Given the description of an element on the screen output the (x, y) to click on. 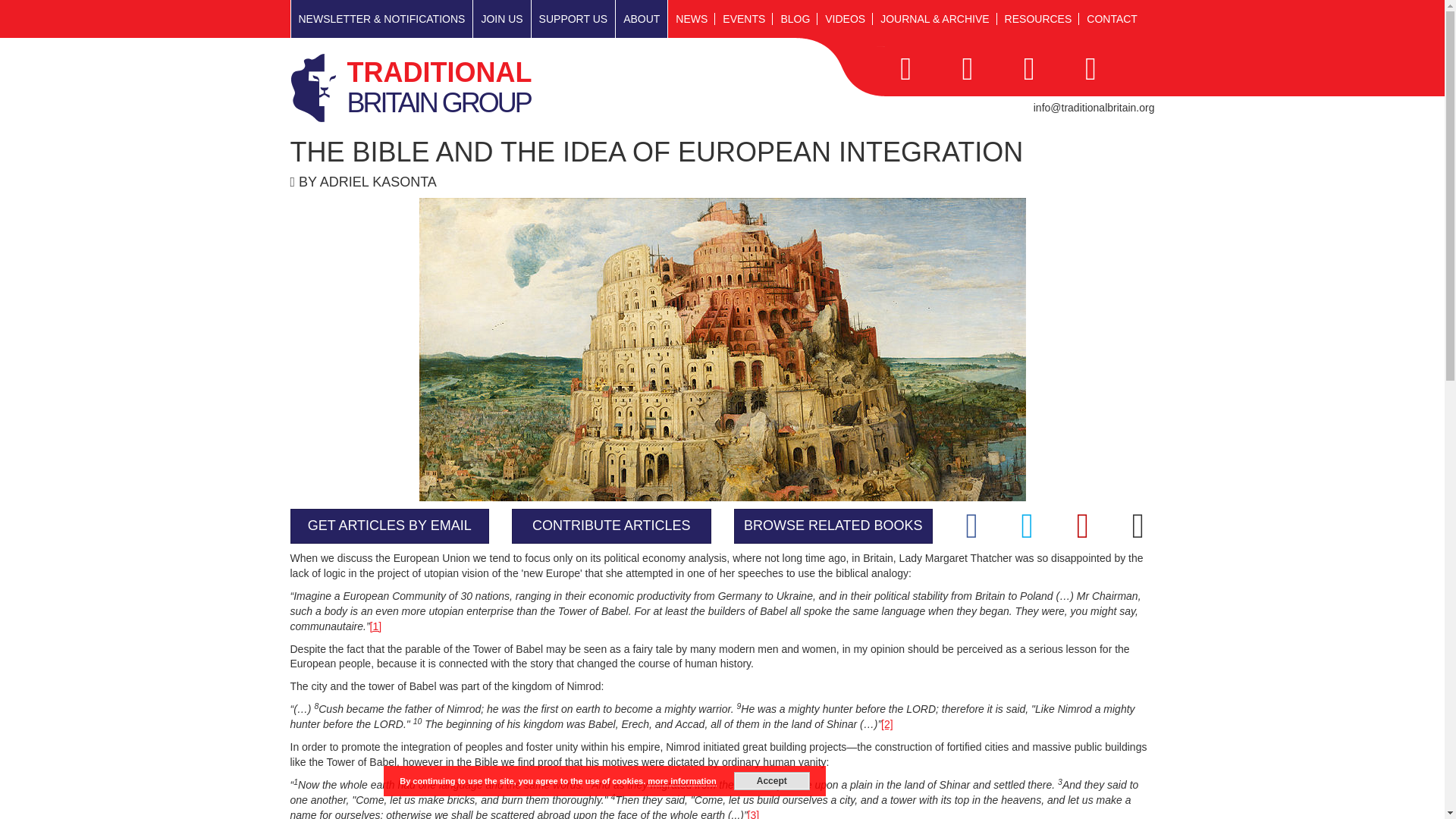
CONTRIBUTE ARTICLES (611, 525)
BROWSE RELATED BOOKS (833, 525)
CONTACT (1111, 18)
NEWS (691, 18)
BLOG (794, 18)
EVENTS (463, 87)
ABOUT (743, 18)
JOIN US (641, 18)
VIDEOS (502, 18)
GET ARTICLES BY EMAIL (844, 18)
SUPPORT US (389, 525)
RESOURCES (573, 18)
